Given the description of an element on the screen output the (x, y) to click on. 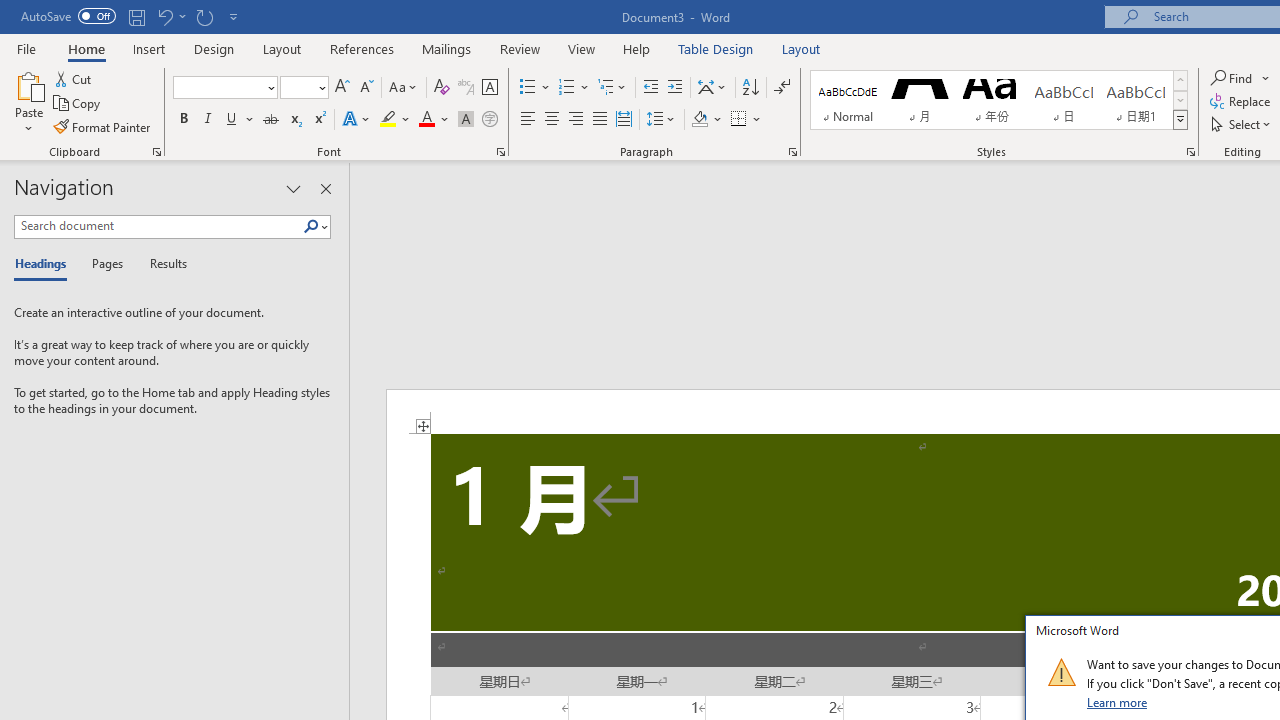
Table Design (715, 48)
Font Color RGB(255, 0, 0) (426, 119)
Learn more (1118, 702)
